Given the description of an element on the screen output the (x, y) to click on. 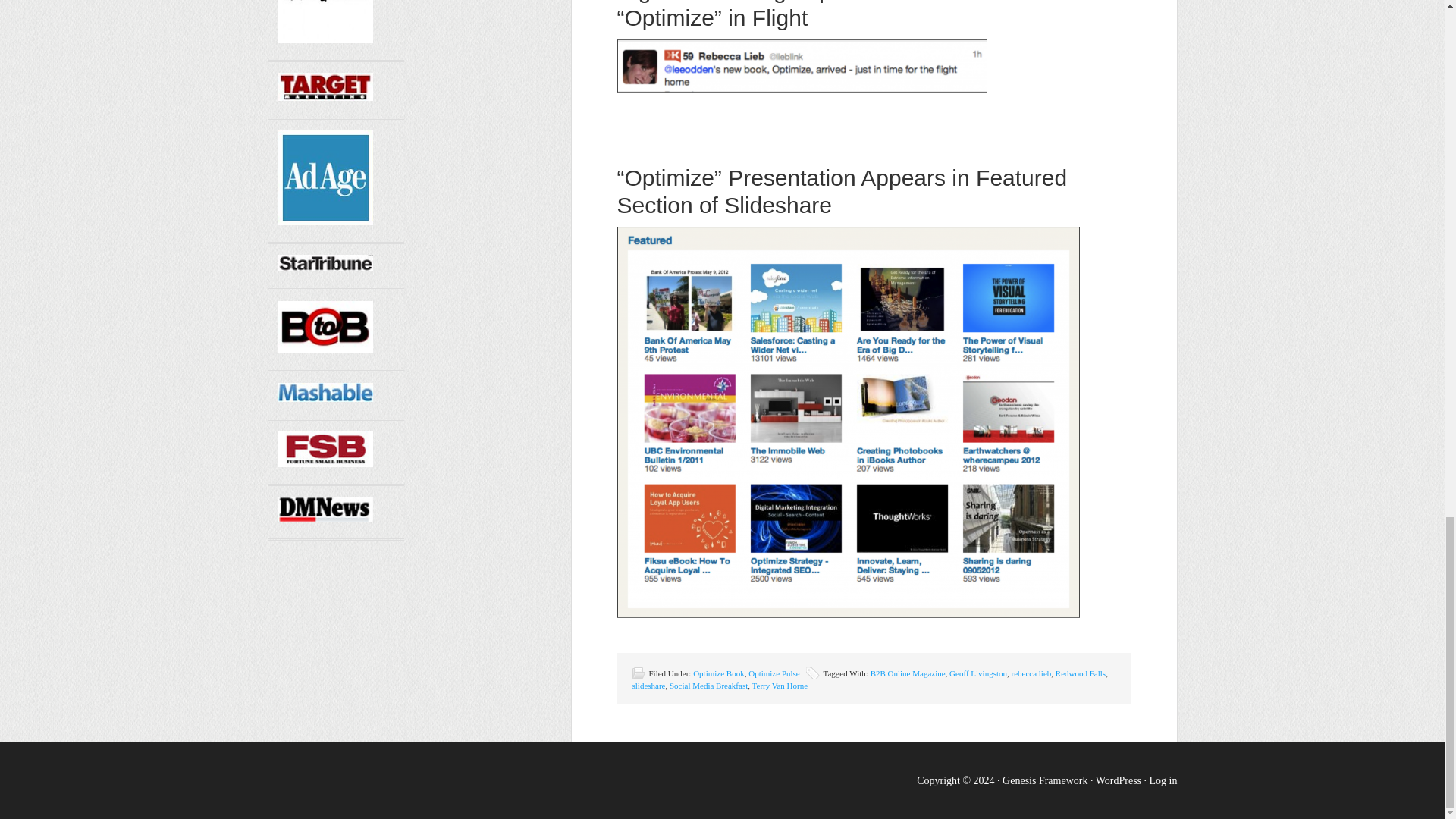
star tribune by toprankonlinemarketing, on Flickr (325, 267)
target marketing mag by toprankonlinemarketing, on Flickr (325, 96)
Geoff Livingston (978, 673)
Social Media Breakfast (708, 685)
B2B Online Magazine (907, 673)
Terry Van Horne (780, 685)
Rebecca Lieb (802, 65)
BtoB Mag by toprankonlinemarketing, on Flickr (325, 349)
rebecca lieb (1030, 673)
Optimize Book (718, 673)
NY Times by toprankonlinemarketing, on Flickr (325, 38)
Redwood Falls (1080, 673)
Optimize Pulse (773, 673)
ad age by toprankonlinemarketing, on Flickr (325, 220)
